Given the description of an element on the screen output the (x, y) to click on. 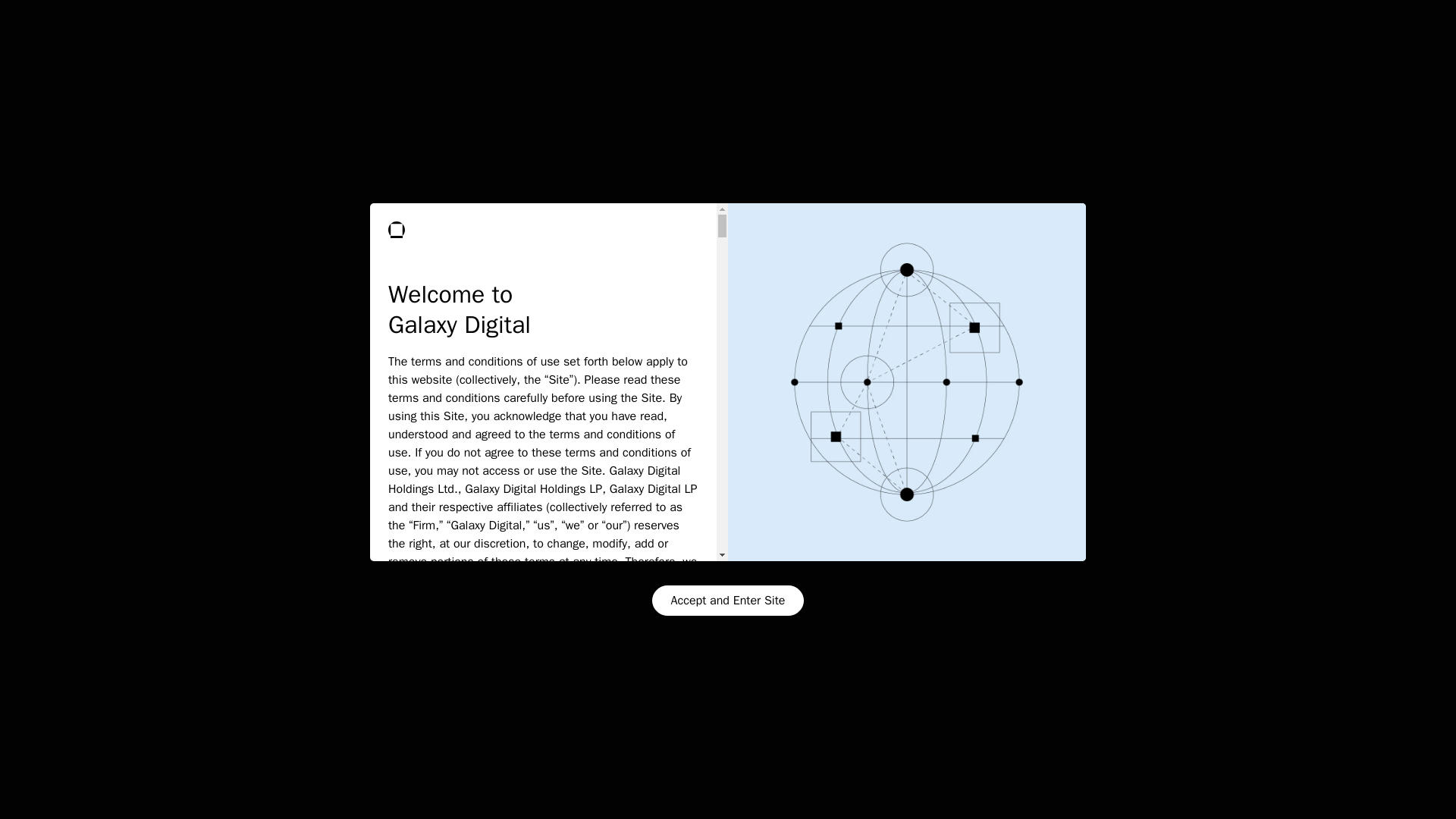
1 (1137, 247)
Cookies Policy (278, 747)
0 (663, 247)
Show Details (186, 789)
